Given the description of an element on the screen output the (x, y) to click on. 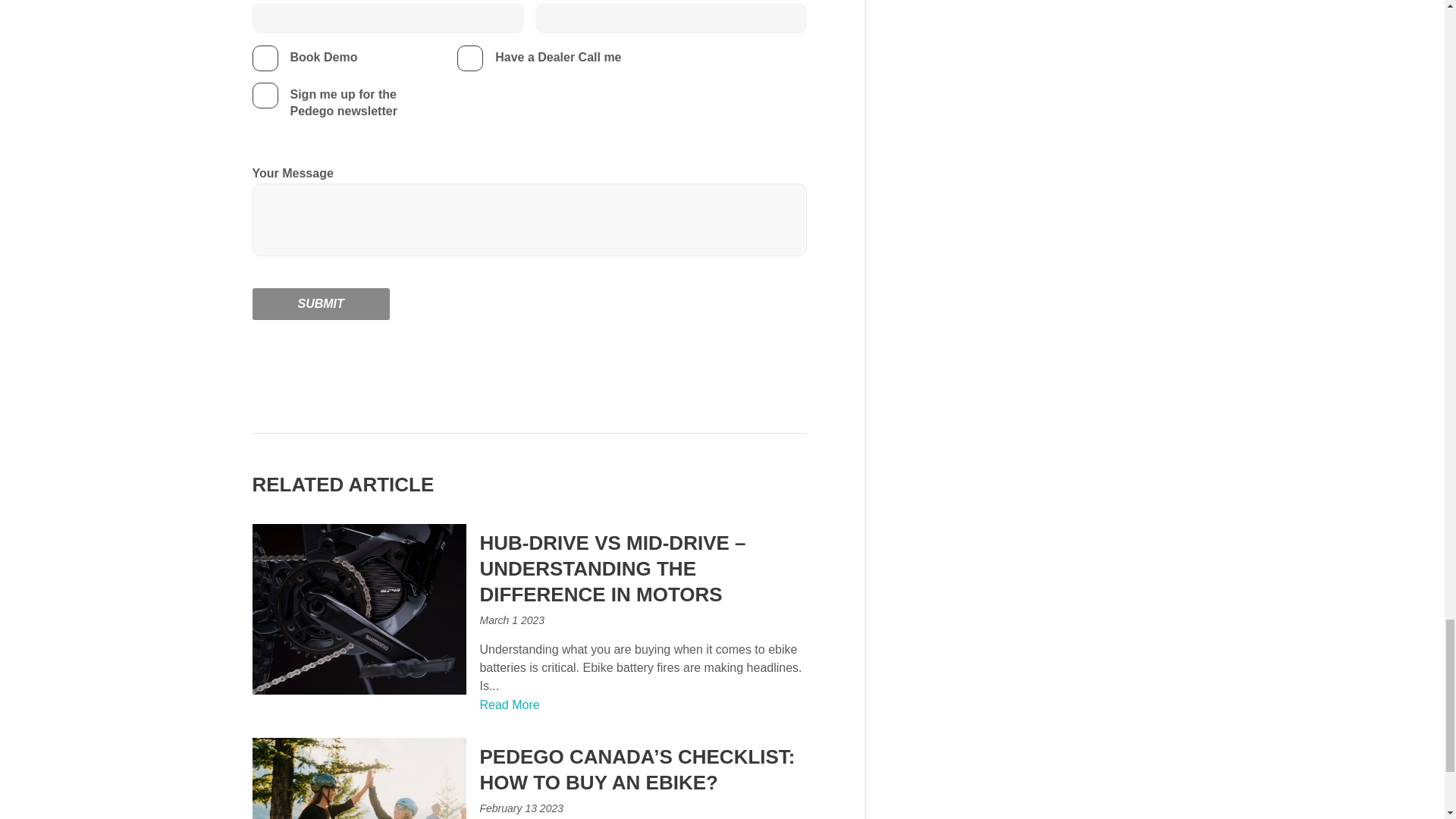
Submit (319, 304)
